Given the description of an element on the screen output the (x, y) to click on. 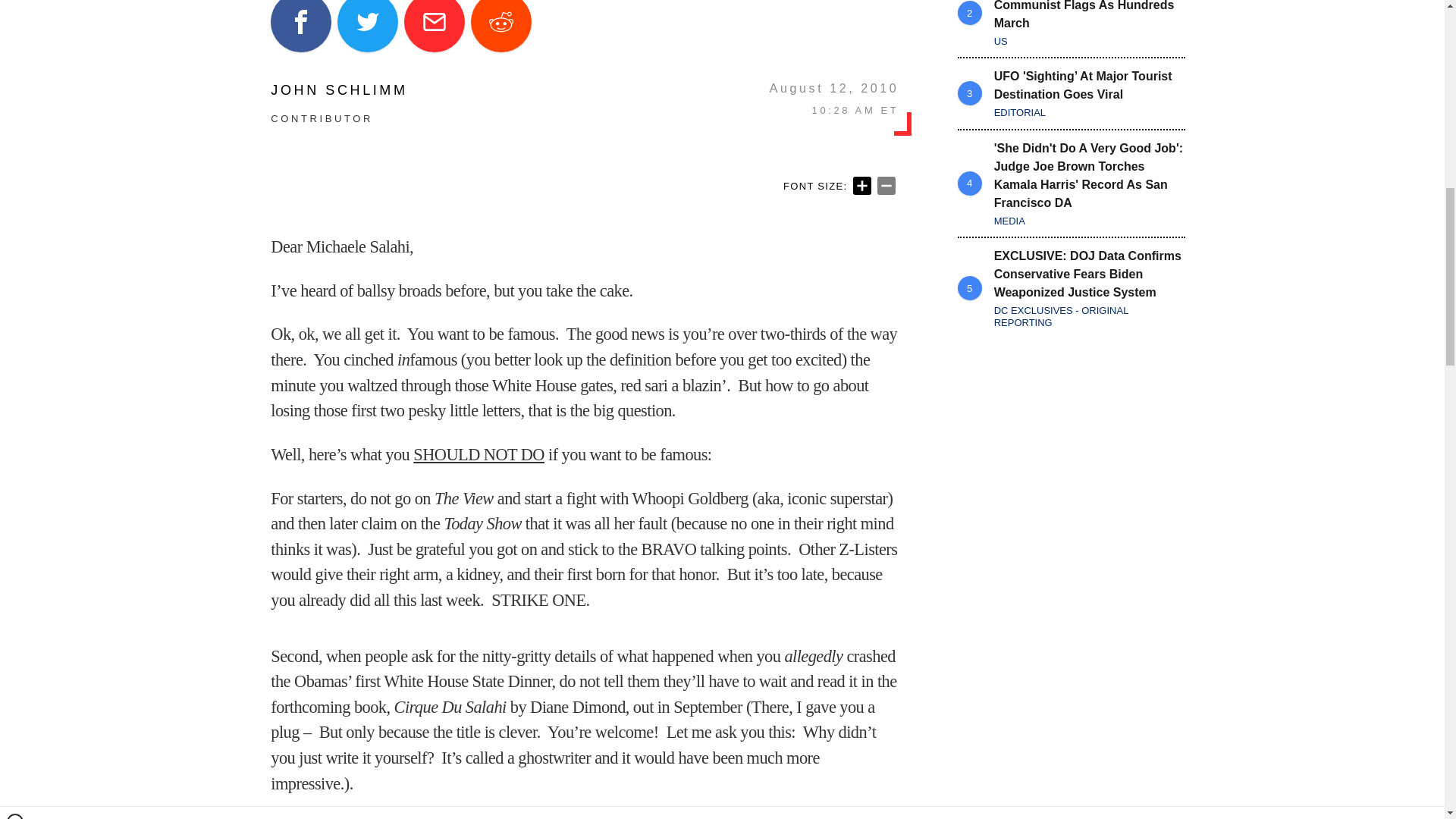
Close window (14, 6)
View More Articles By John Schlimm (338, 90)
JOHN SCHLIMM (338, 90)
